Given the description of an element on the screen output the (x, y) to click on. 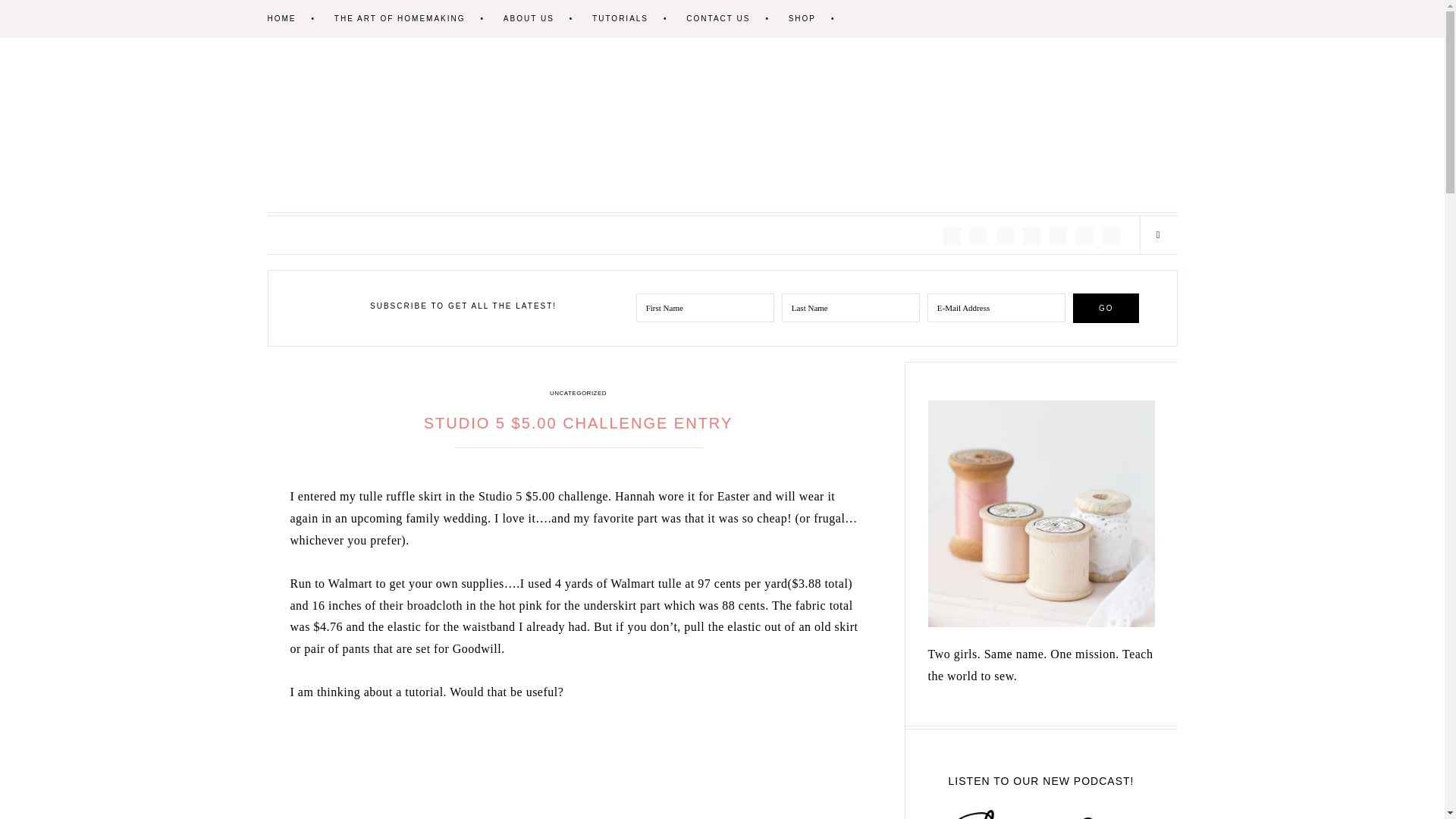
Go (1106, 307)
TUTORIALS (637, 18)
UNCATEGORIZED (578, 392)
CONTACT US (734, 18)
SHOP (819, 18)
HOME (298, 18)
ABOUT US (545, 18)
Go (1106, 307)
THE ART OF HOMEMAKING (416, 18)
